Given the description of an element on the screen output the (x, y) to click on. 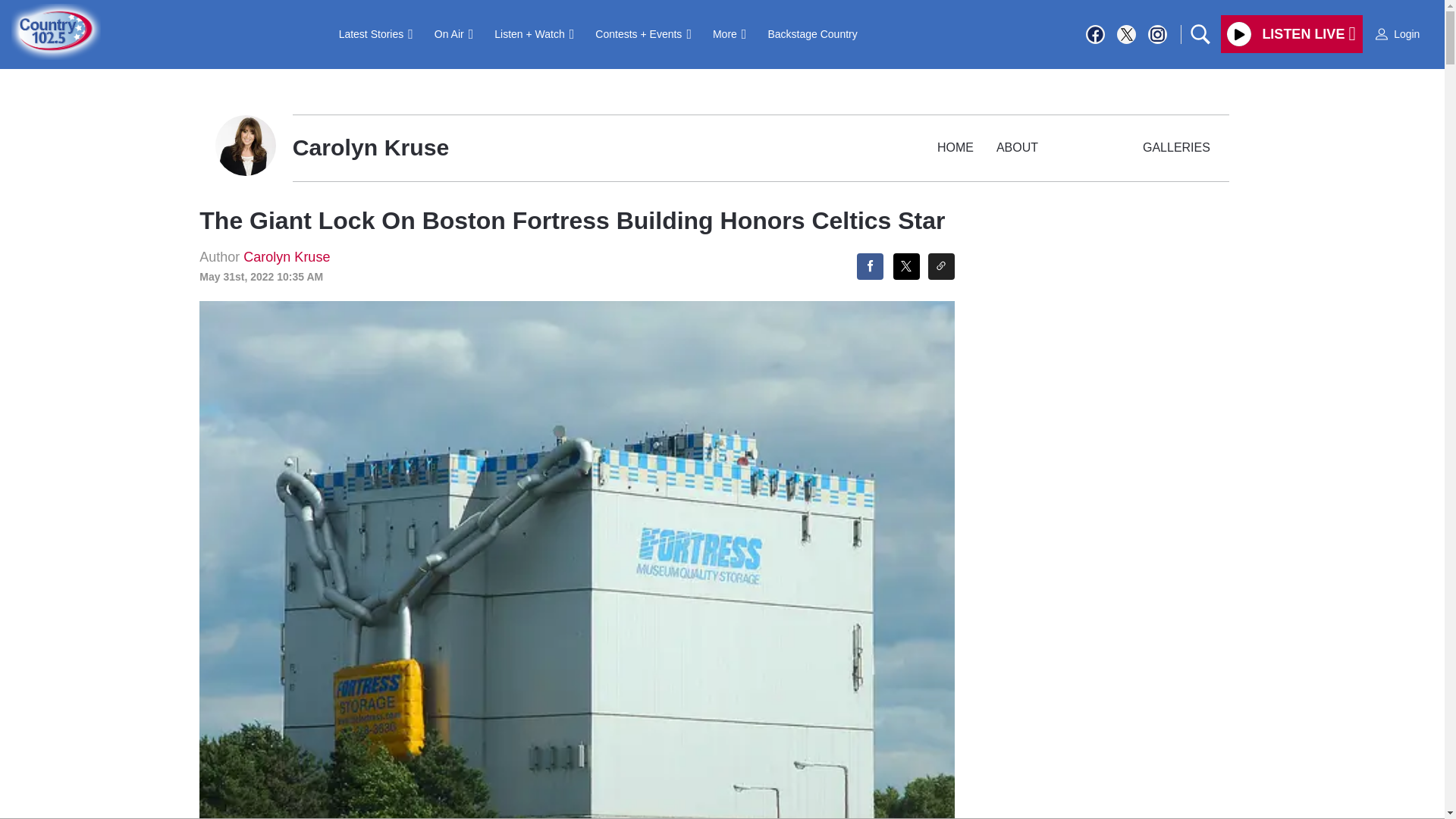
On Air (453, 33)
Carolyn Kruse (286, 256)
Latest Stories (376, 33)
More (729, 33)
